Given the description of an element on the screen output the (x, y) to click on. 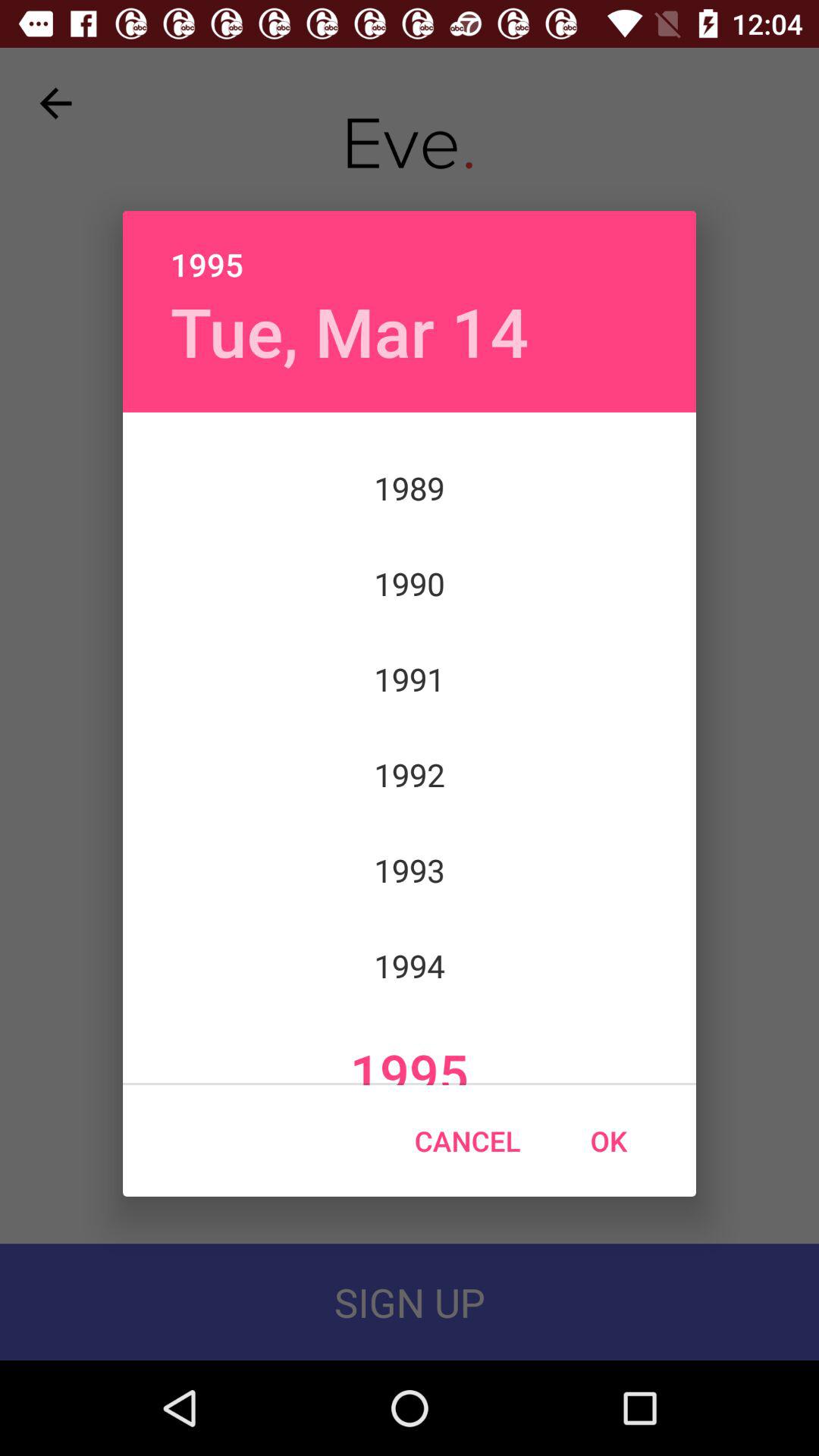
turn off the icon at the bottom right corner (608, 1140)
